Given the description of an element on the screen output the (x, y) to click on. 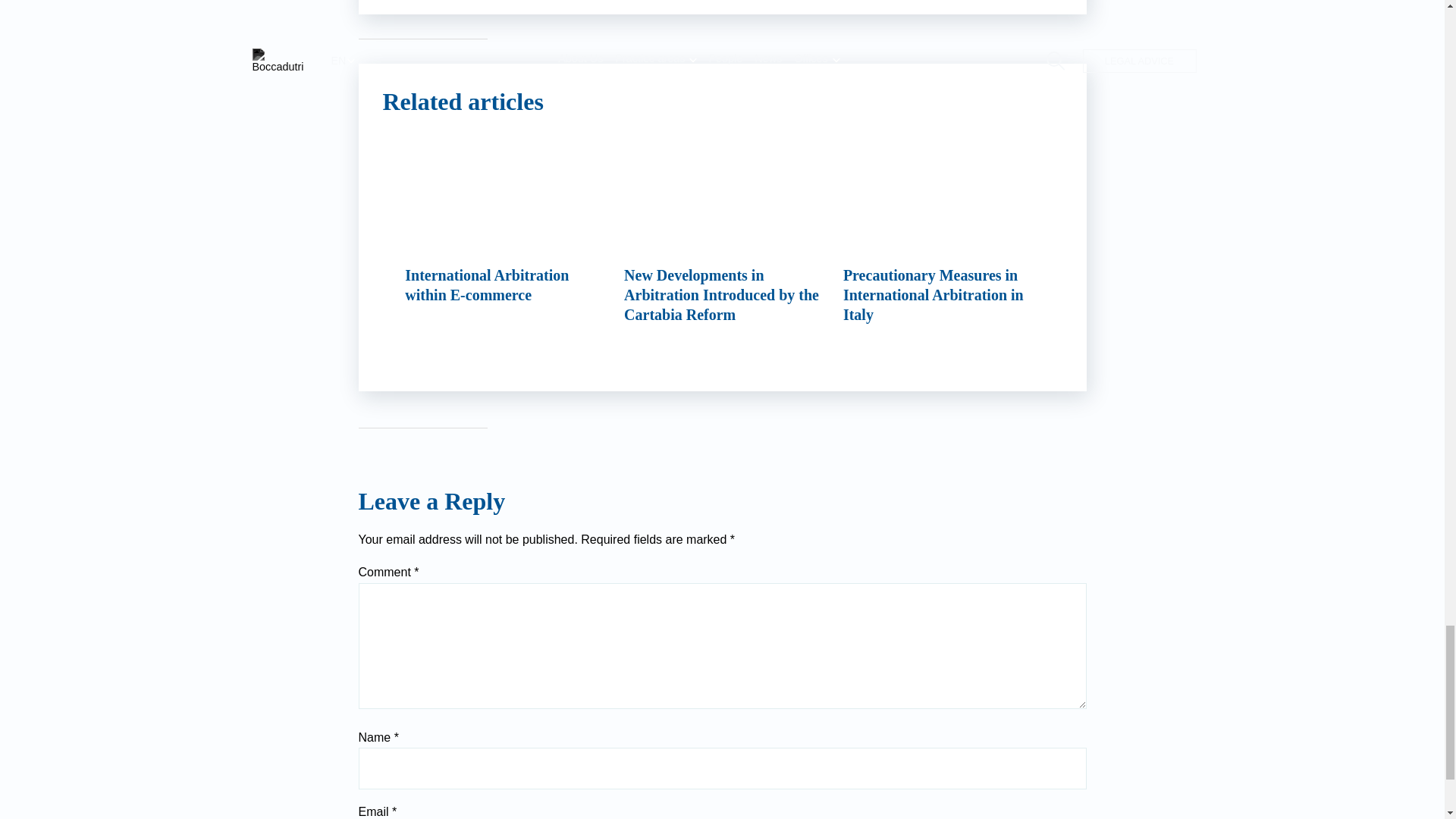
International Arbitration within E-commerce 2 (503, 199)
International Arbitration within E-commerce (503, 225)
Precautionary Measures in International Arbitration in Italy (941, 235)
